Given the description of an element on the screen output the (x, y) to click on. 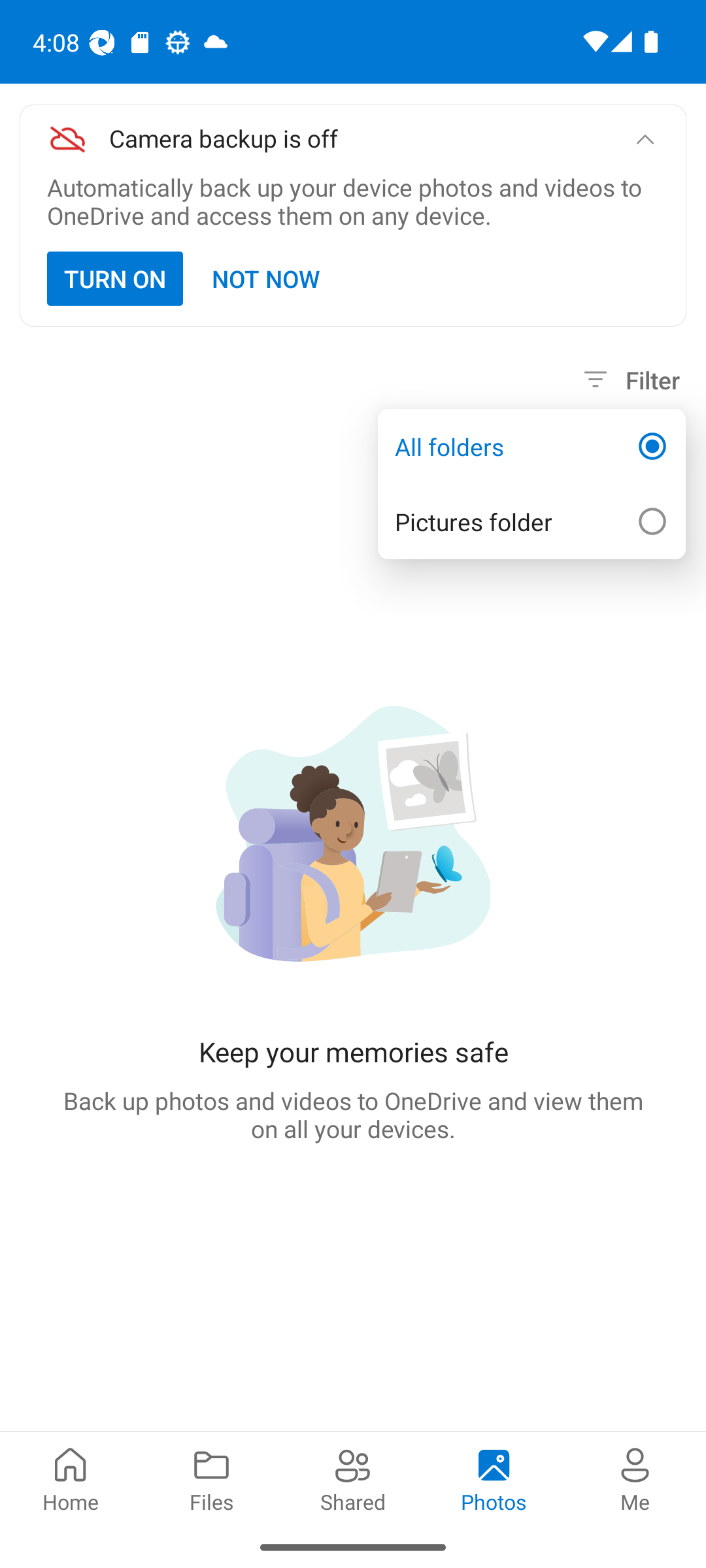
All folders (531, 446)
Pictures folder (531, 521)
